Given the description of an element on the screen output the (x, y) to click on. 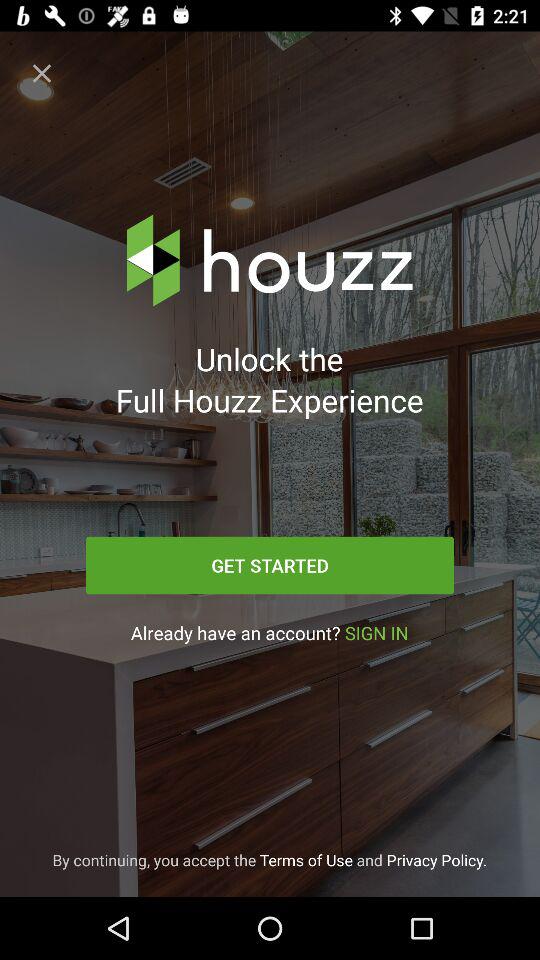
swipe until the get started icon (269, 565)
